Given the description of an element on the screen output the (x, y) to click on. 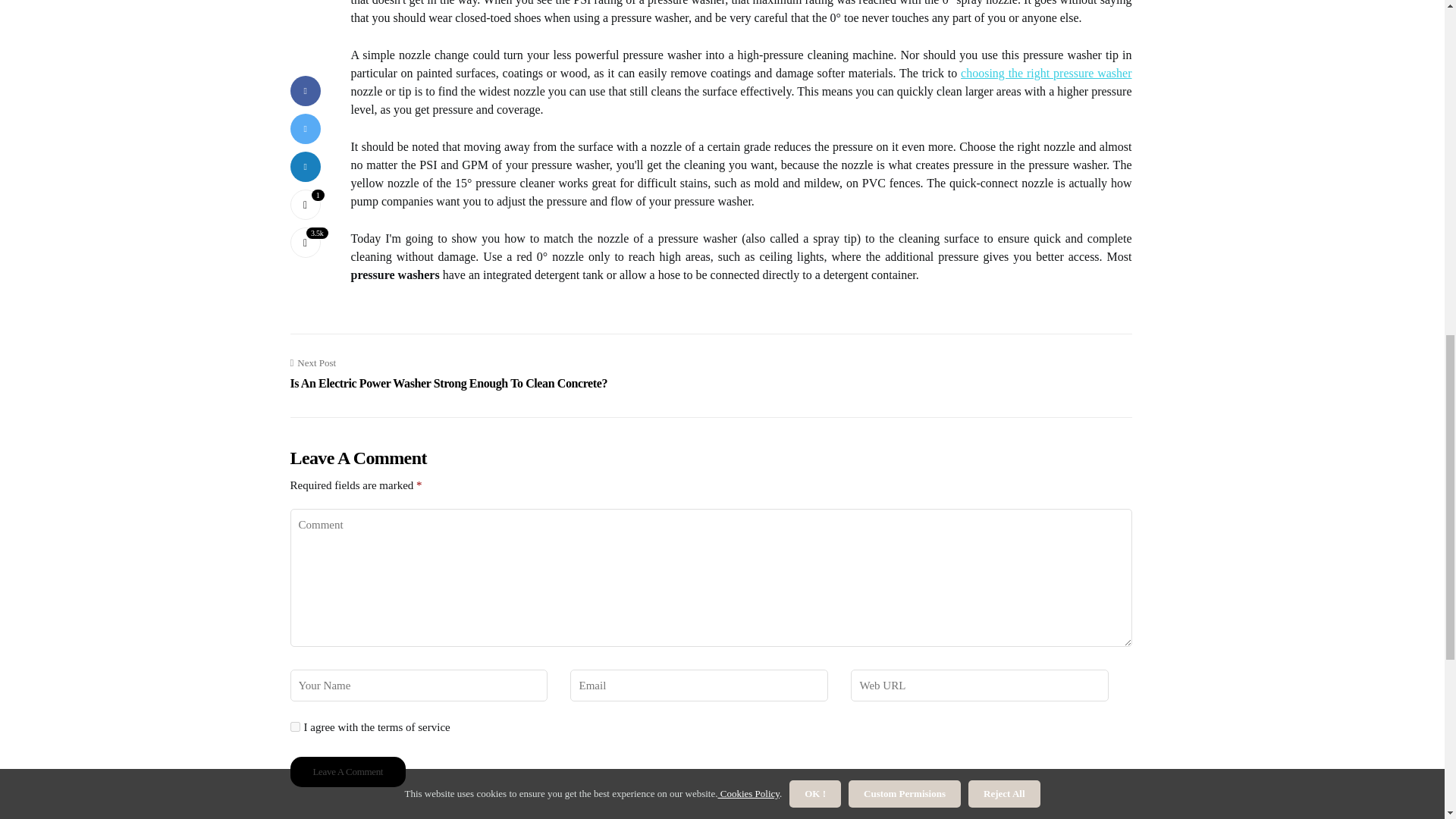
choosing the right pressure washer (1045, 72)
Leave a Comment (347, 771)
yes (294, 726)
Leave a Comment (347, 771)
